Given the description of an element on the screen output the (x, y) to click on. 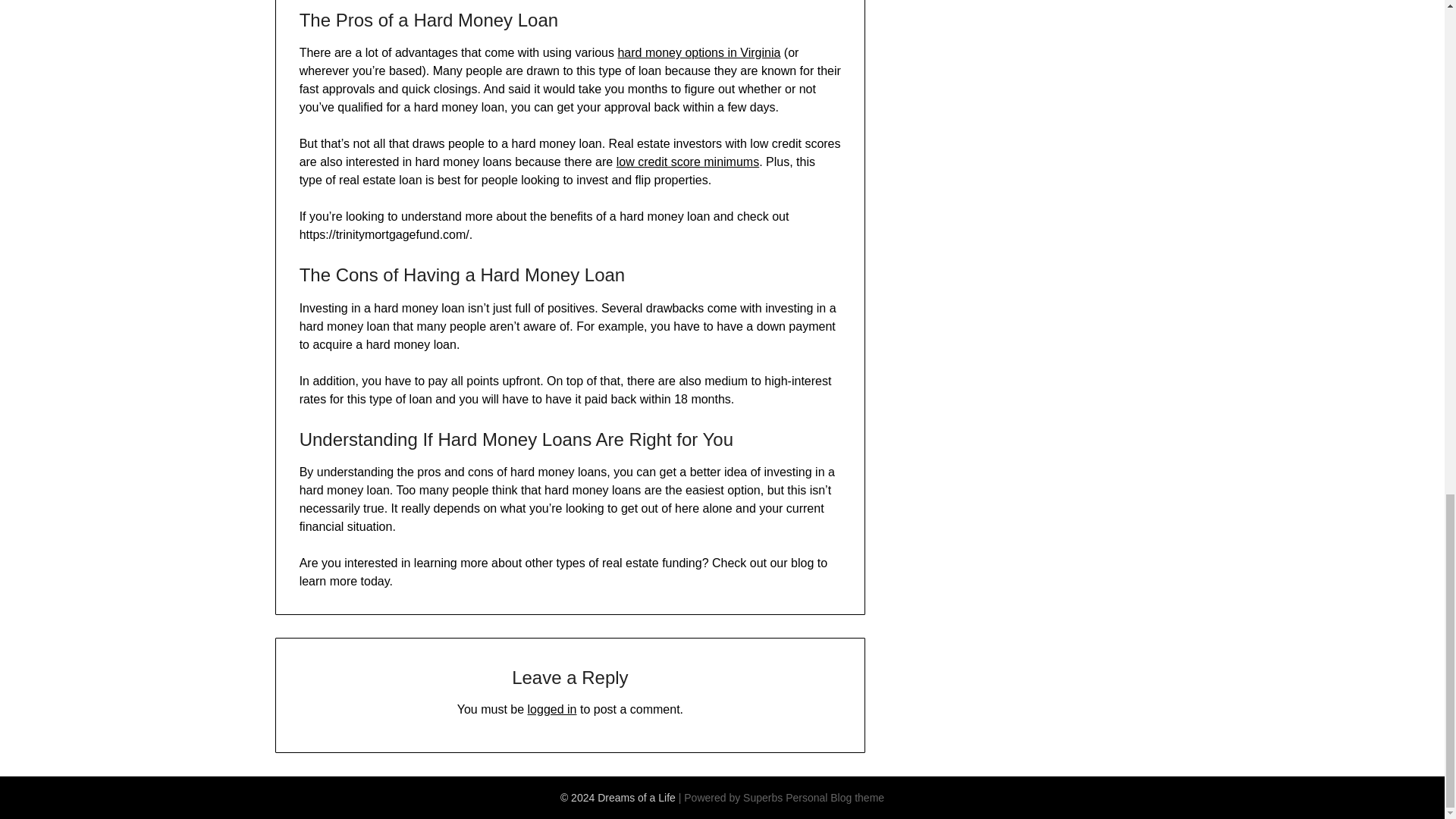
Personal Blog theme (834, 797)
hard money options in Virginia (698, 51)
low credit score minimums (686, 161)
logged in (551, 708)
